Given the description of an element on the screen output the (x, y) to click on. 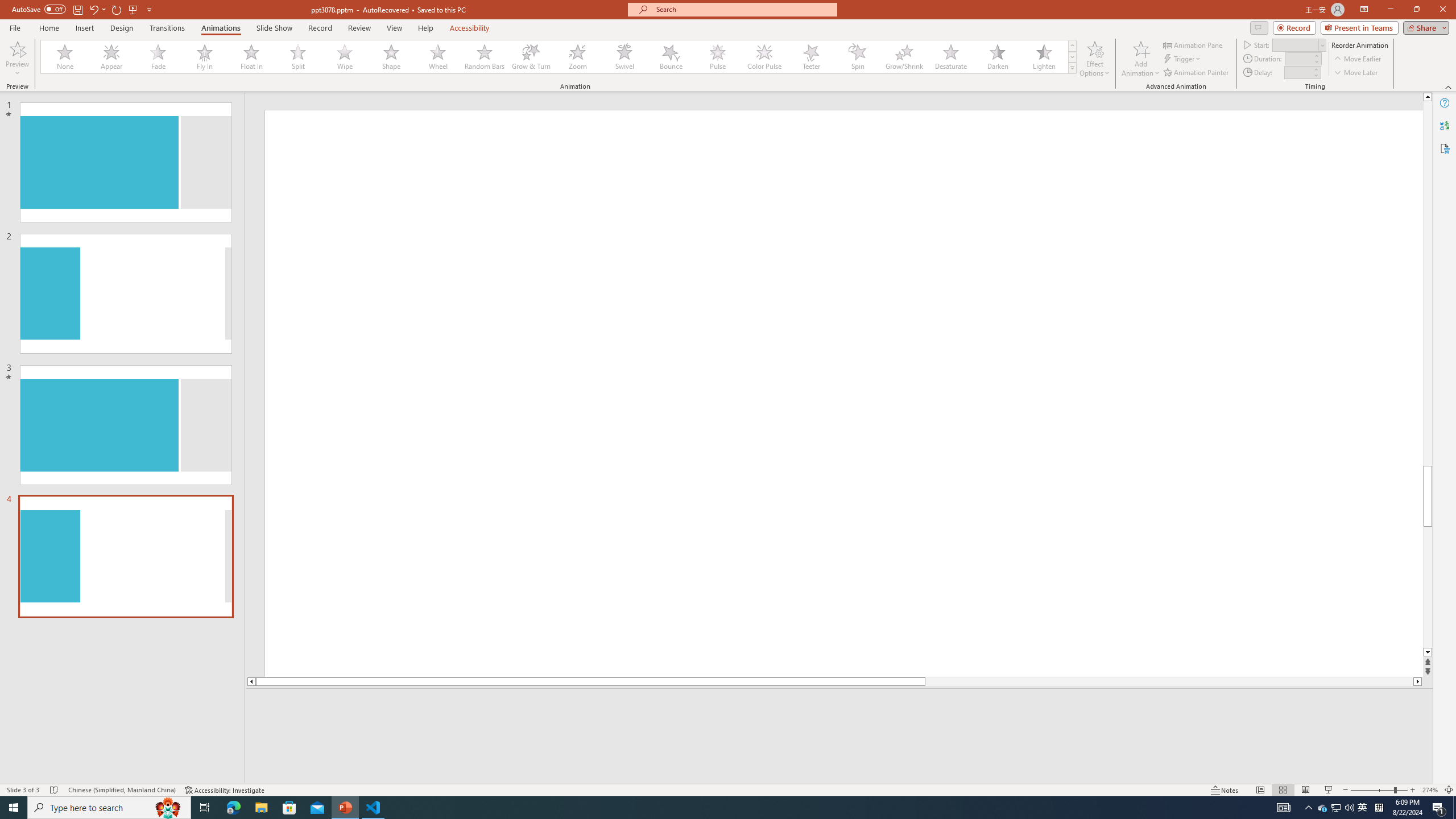
Animation Styles (1071, 67)
Animation Duration (1298, 58)
Animation Delay (1297, 72)
Color Pulse (764, 56)
Move Later (1355, 72)
Preview (17, 48)
